Given the description of an element on the screen output the (x, y) to click on. 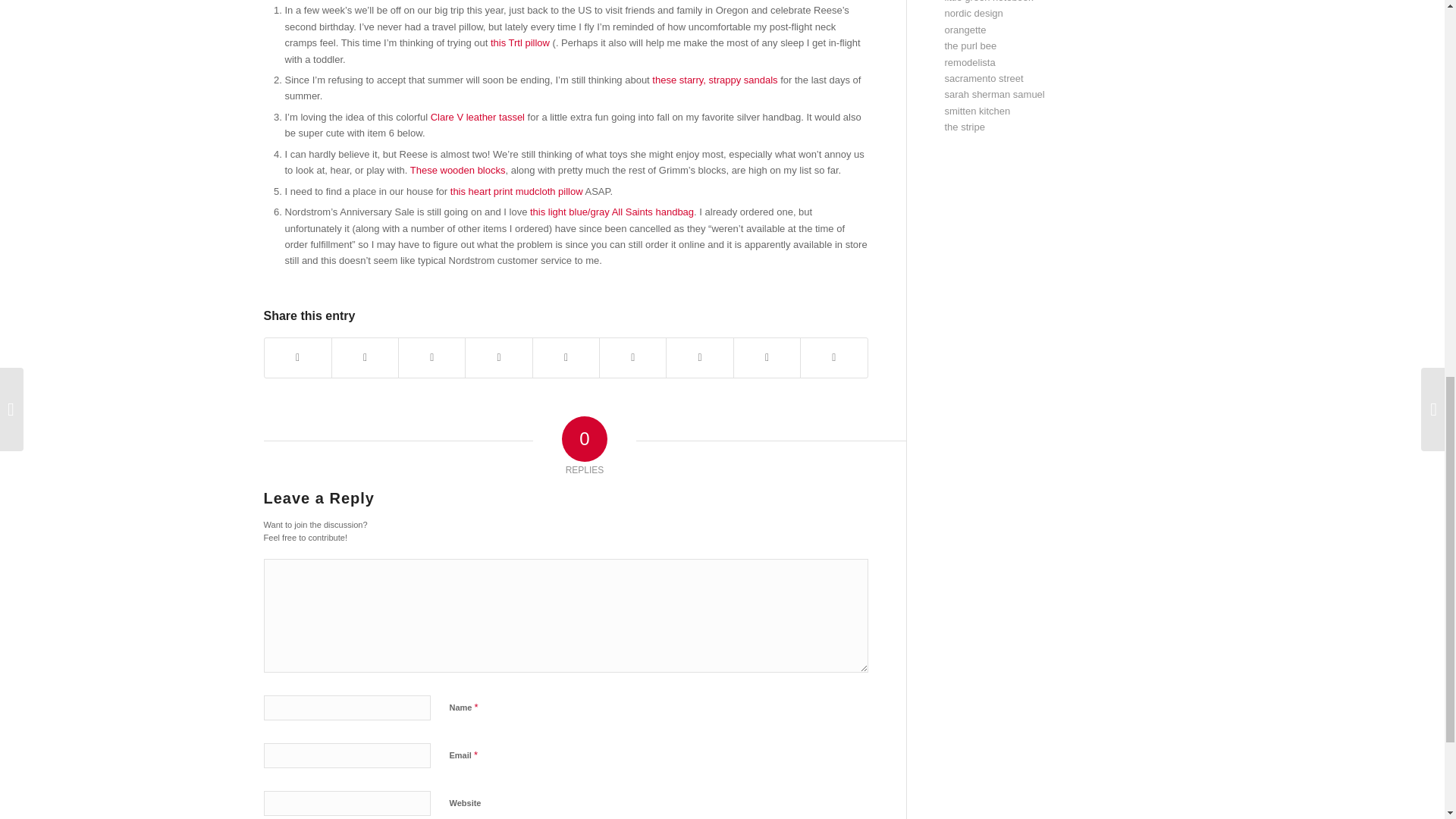
These wooden blocks (457, 170)
this Trtl pillow (520, 42)
this heart print mudcloth pillow (516, 191)
these starry, strappy sandals (714, 79)
Clare V leather tassel (477, 116)
